Given the description of an element on the screen output the (x, y) to click on. 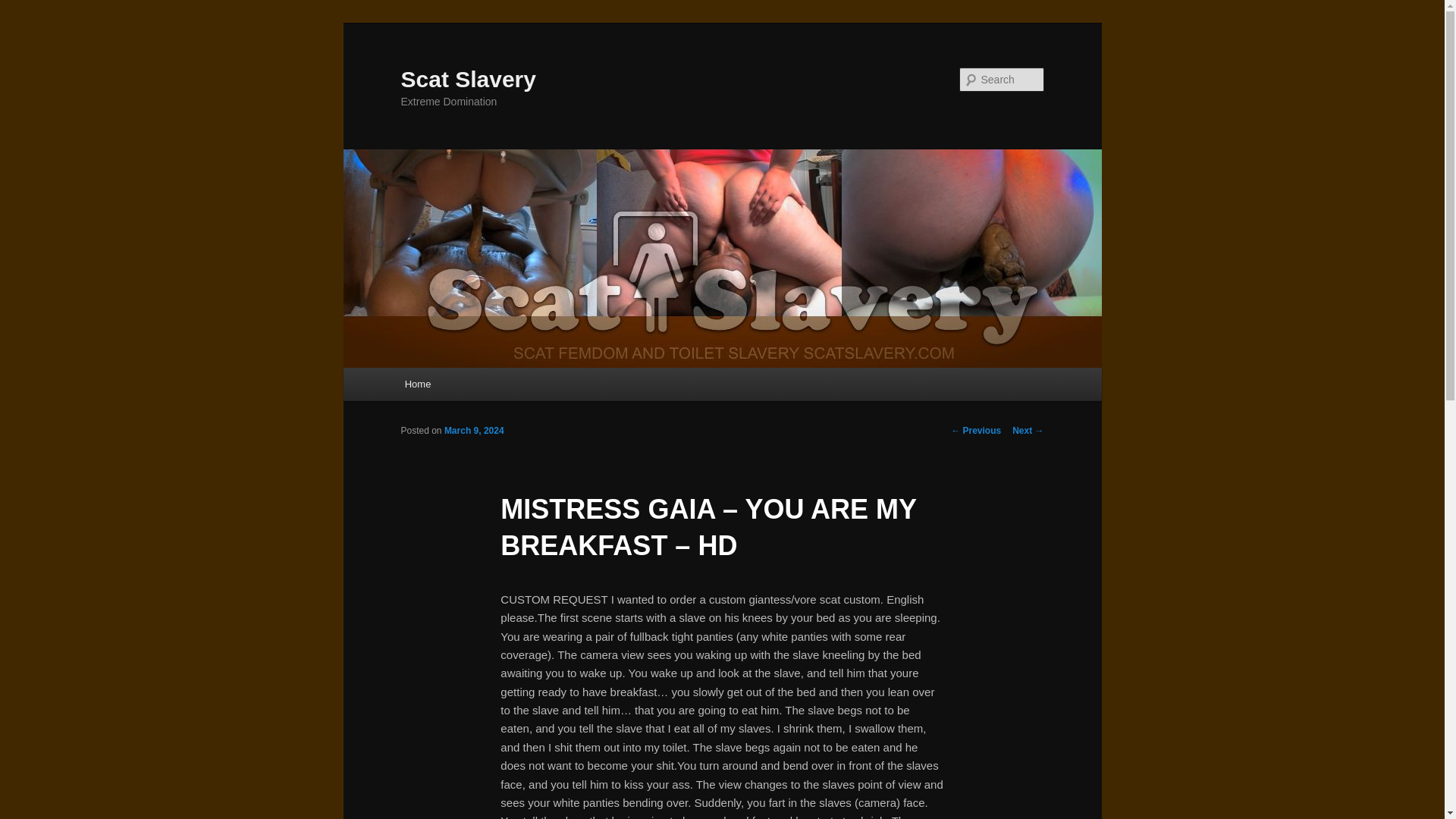
Search (24, 8)
Home (417, 383)
Scat Slavery (467, 78)
March 9, 2024 (473, 430)
8:13 am (473, 430)
